Given the description of an element on the screen output the (x, y) to click on. 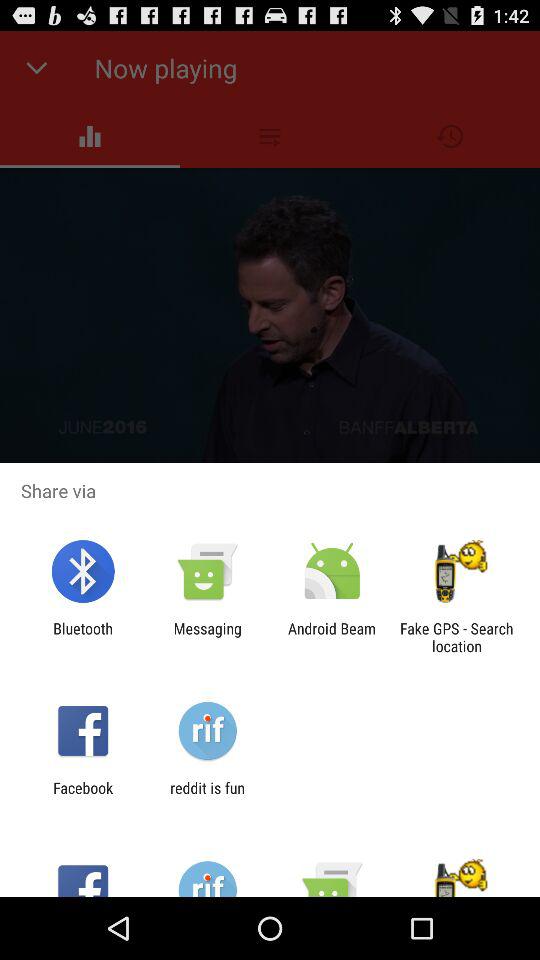
turn off icon next to bluetooth item (207, 637)
